Given the description of an element on the screen output the (x, y) to click on. 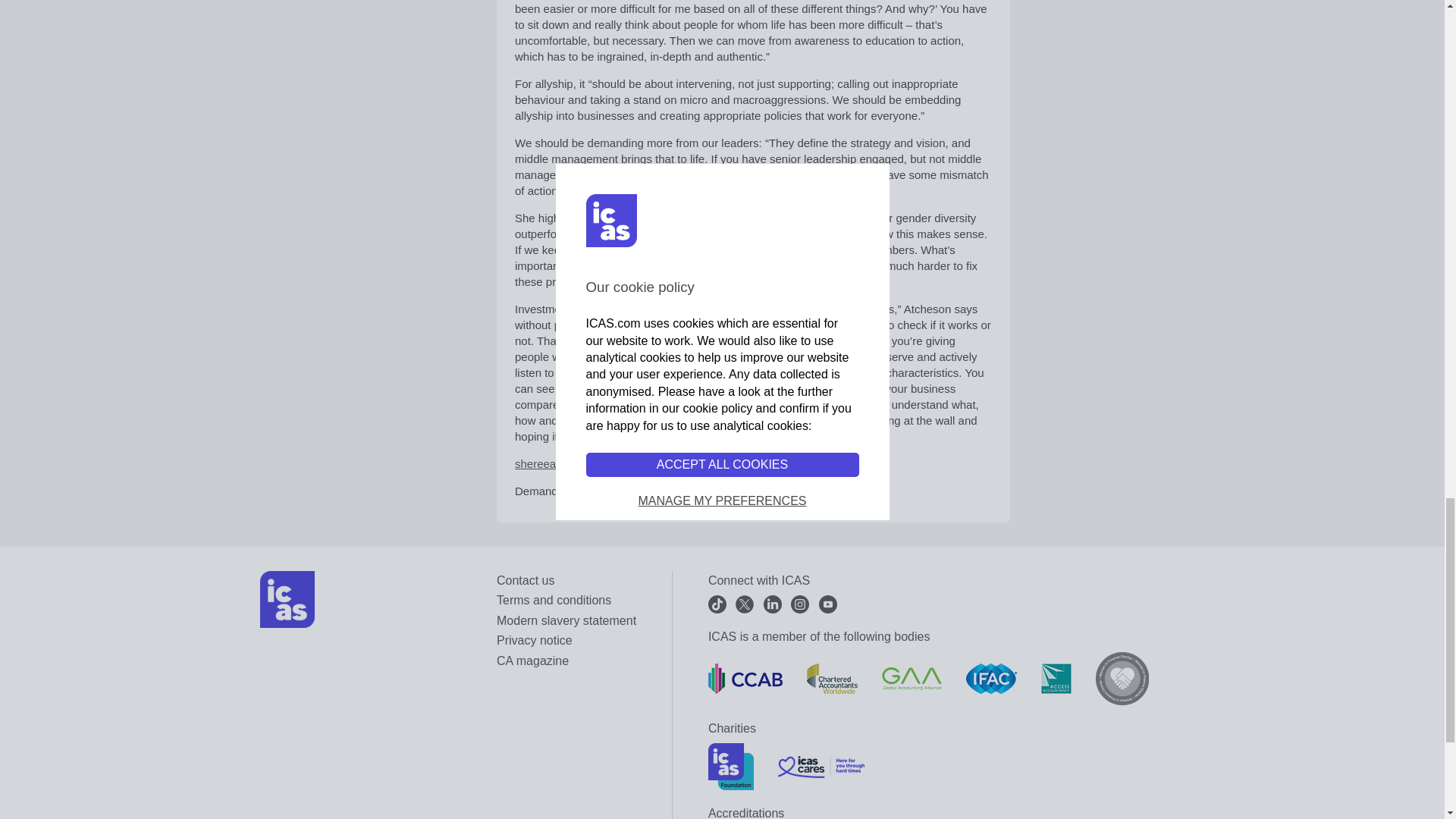
Consultative Committee of Accountancy Bodies (745, 678)
Twitter Icon (744, 604)
Chartered Accountants Worldwide (831, 678)
ICAS Cares (820, 766)
ICAS Foundation (730, 766)
Access Accountancy (1056, 678)
International Federation of Accountants (991, 678)
Women in Finance Charter (1122, 678)
